Given the description of an element on the screen output the (x, y) to click on. 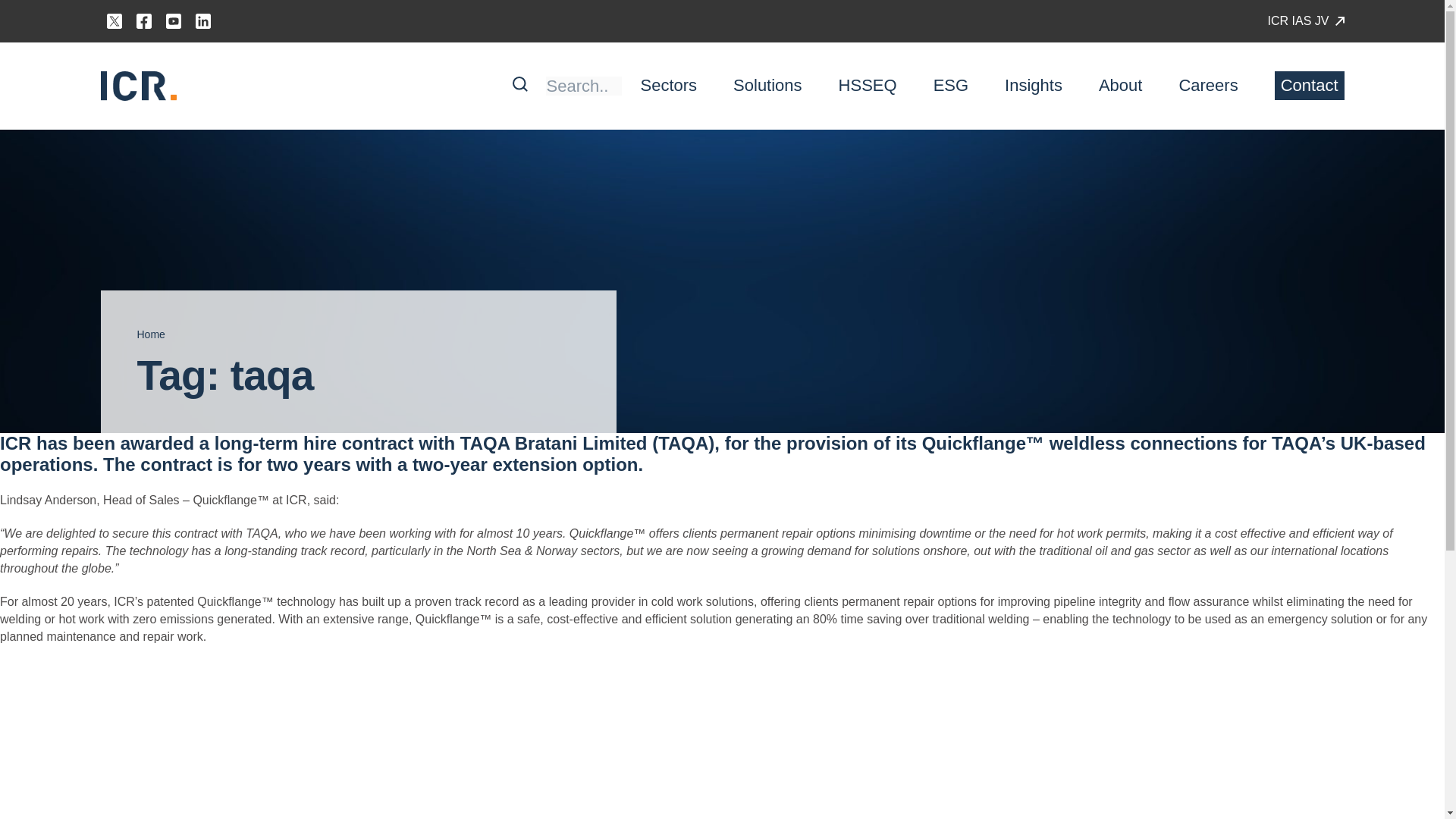
ICR IAS JV (1305, 21)
Facebook (144, 21)
Solutions (767, 85)
HSSEQ (867, 85)
Linkedin (202, 21)
Sectors (668, 85)
ESG (950, 85)
Insights (1033, 85)
About (1120, 85)
YouTube (173, 21)
